Given the description of an element on the screen output the (x, y) to click on. 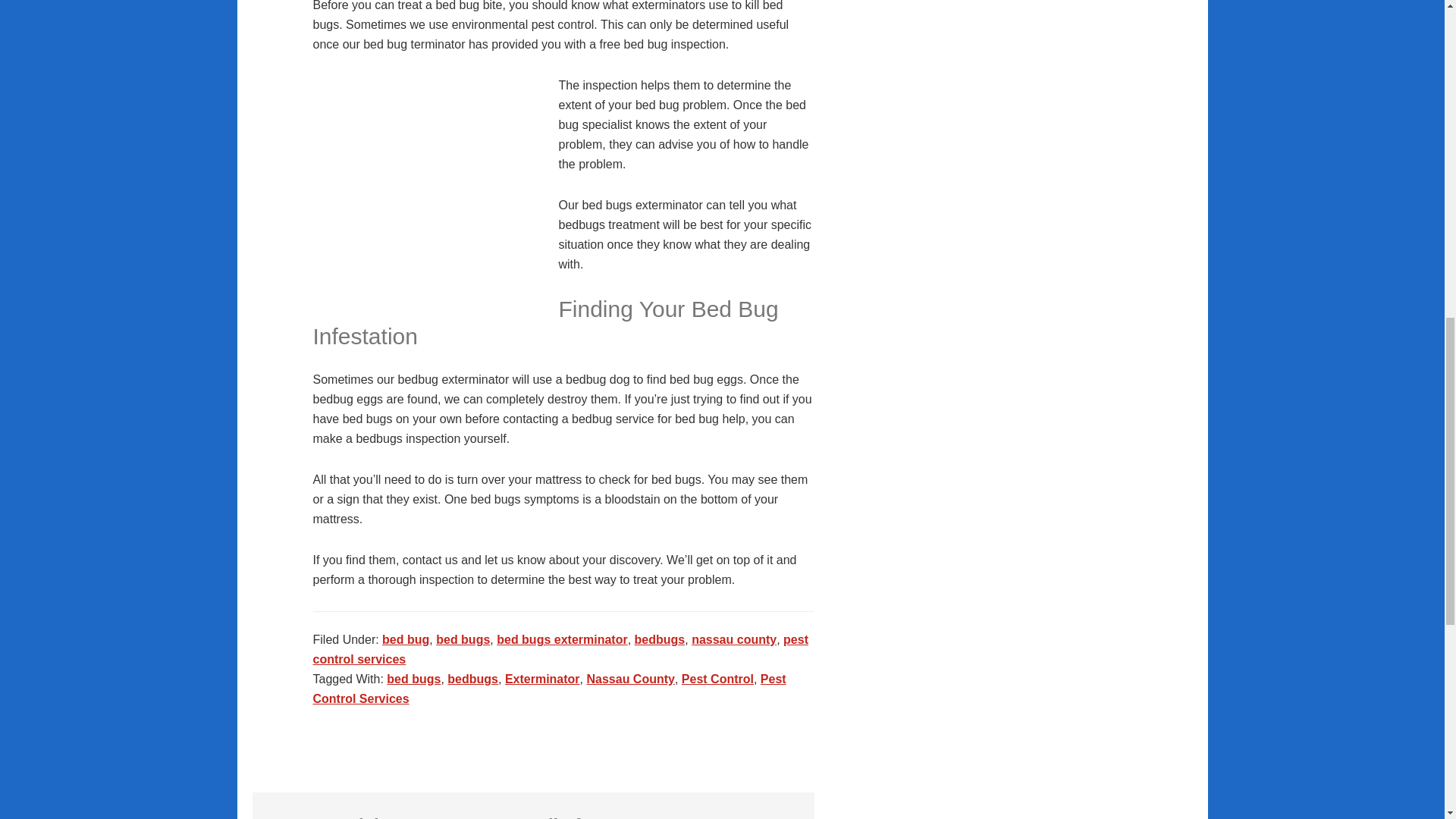
pest control services (560, 649)
bedbugs (659, 639)
Pest Control Services (549, 688)
bed bugs (462, 639)
nassau county (733, 639)
bed bug (405, 639)
Nassau County (630, 678)
Pest Control (717, 678)
bed bugs exterminator (561, 639)
bed bugs (414, 678)
bedbugs (471, 678)
Exterminator (542, 678)
